Given the description of an element on the screen output the (x, y) to click on. 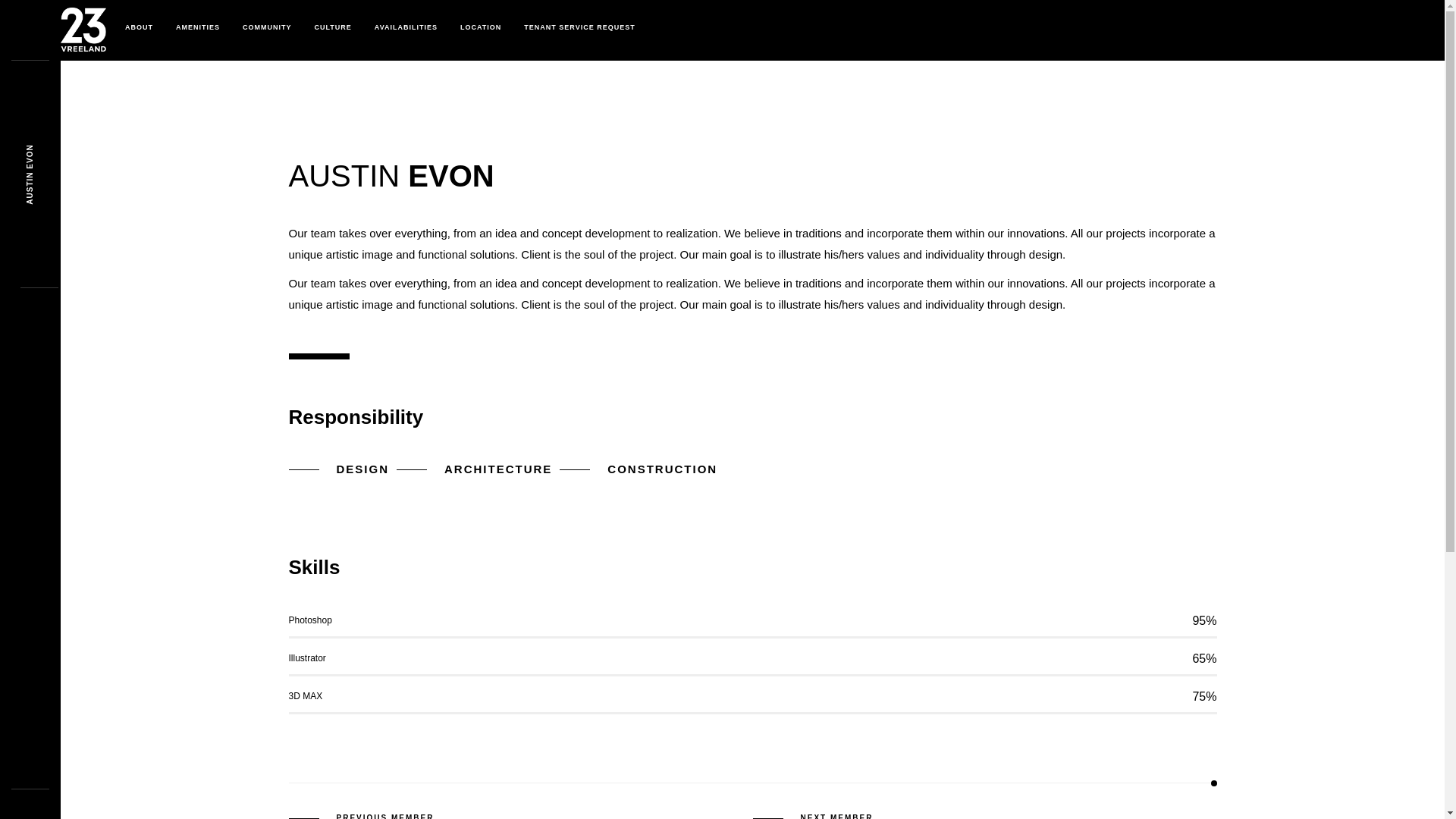
ABOUT Element type: text (138, 27)
AVAILABILITIES Element type: text (405, 27)
LOCATION Element type: text (480, 27)
A PROJECT OF EASTMAN COMPANIES Element type: text (882, 730)
ARCHITECTURE Element type: text (474, 469)
CONSTRUCTION Element type: text (638, 469)
COMMUNITY Element type: text (267, 27)
TENANT SERVICE REQUEST Element type: text (579, 27)
ERICM@EASTMANCOMPANIES.COM Element type: text (1146, 637)
AUSTIN EVON Element type: text (55, 148)
CULTURE Element type: text (333, 27)
AMENITIES Element type: text (197, 27)
DESIGN Element type: text (338, 469)
973.488.6110 Element type: text (939, 637)
